Given the description of an element on the screen output the (x, y) to click on. 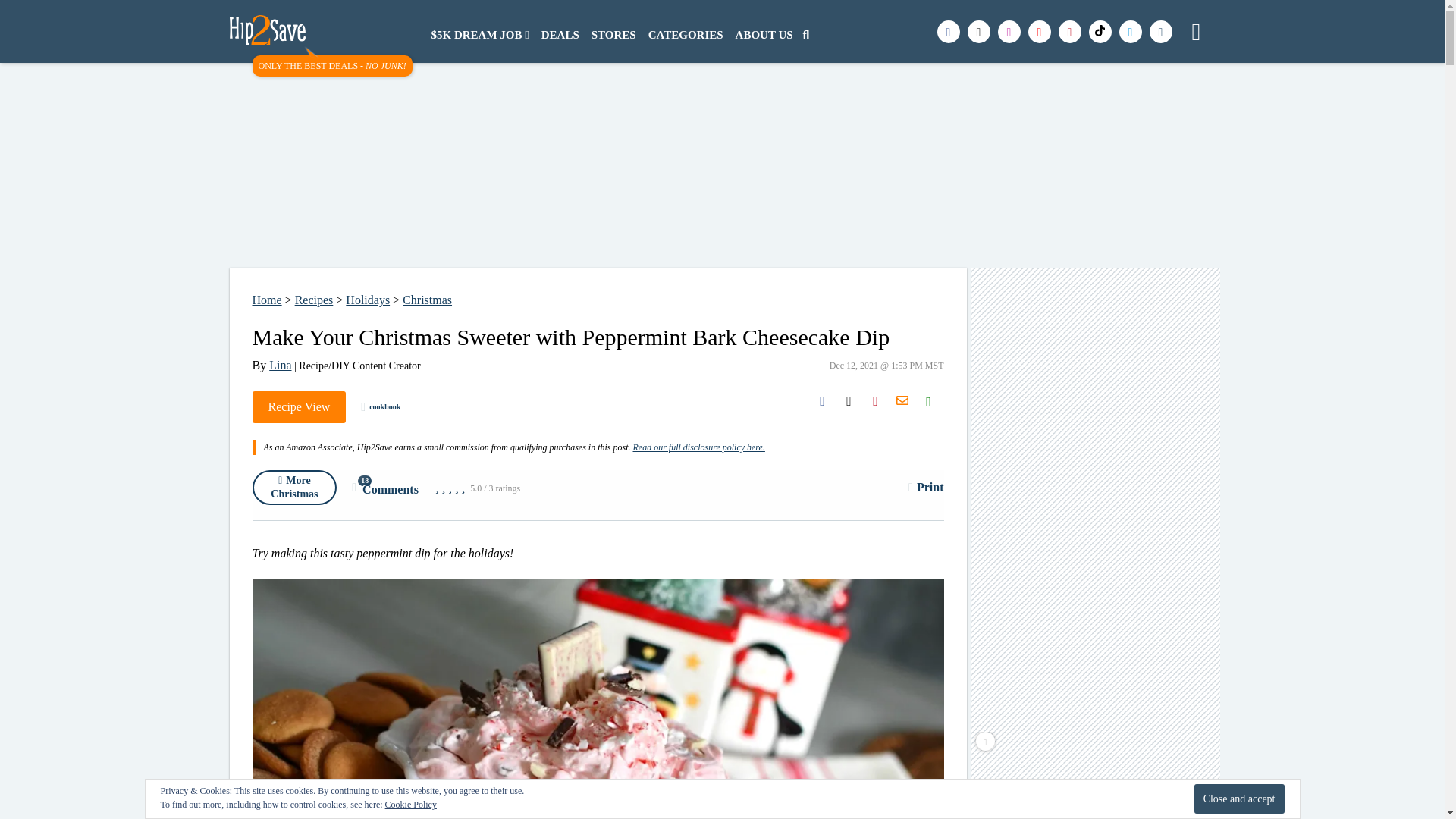
Lina (280, 364)
cookbook (380, 407)
Recipes (314, 299)
Close and accept (1238, 798)
STORES (613, 35)
Christmas (427, 299)
More Christmas (293, 487)
Click to share on H2S Email (902, 400)
DEALS (560, 35)
Click to share on SMS (927, 400)
